Given the description of an element on the screen output the (x, y) to click on. 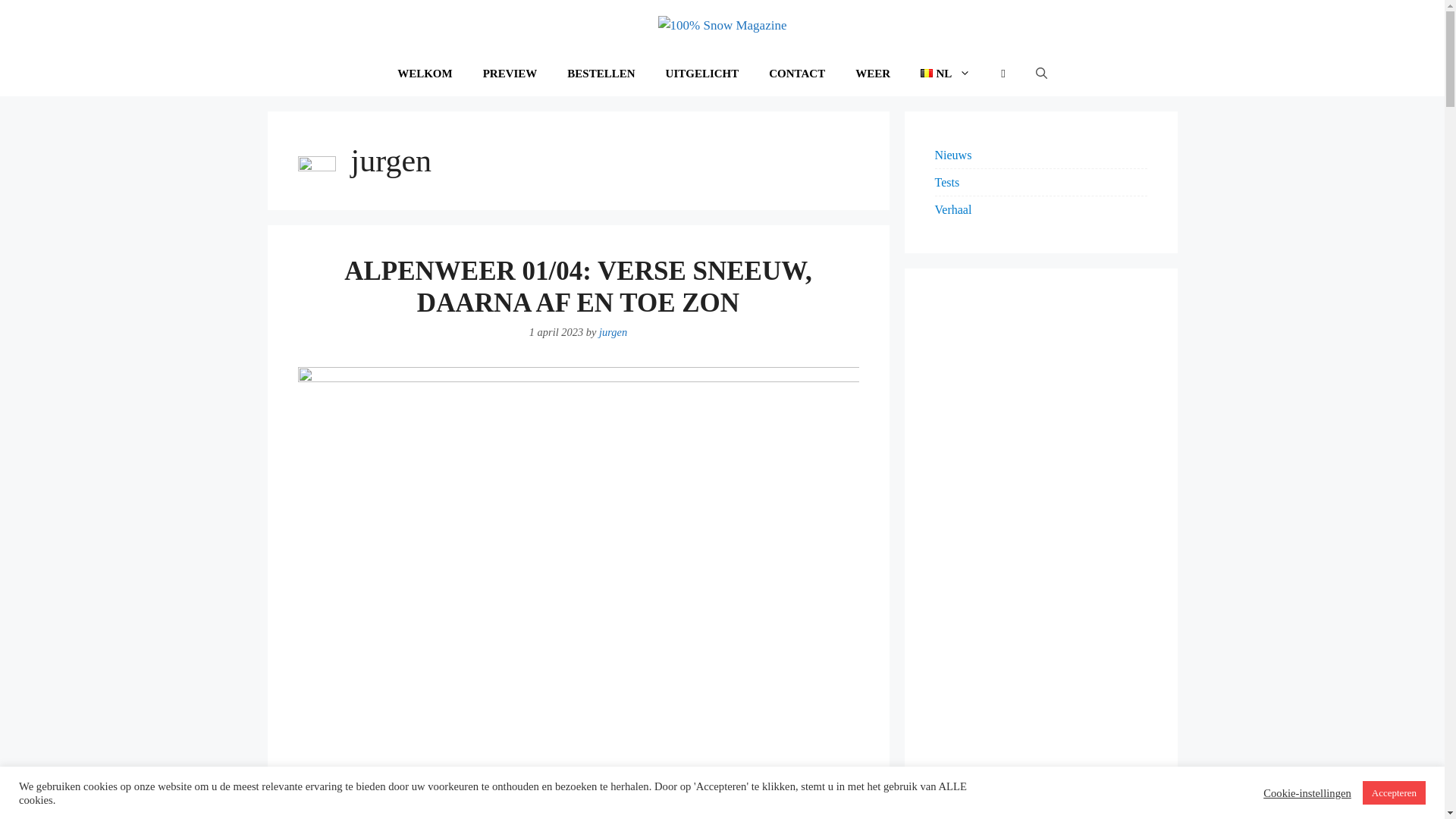
NL Element type: text (945, 73)
100% Snow Magazine Element type: hover (722, 25)
UITGELICHT Element type: text (702, 73)
Nieuws Element type: text (952, 154)
ALPENWEER 01/04: VERSE SNEEUW, DAARNA AF EN TOE ZON Element type: text (578, 286)
jurgen Element type: text (613, 332)
PREVIEW Element type: text (509, 73)
CONTACT Element type: text (796, 73)
WELKOM Element type: text (424, 73)
WEER Element type: text (872, 73)
Cookie-instellingen Element type: text (1307, 792)
BESTELLEN Element type: text (600, 73)
Accepteren Element type: text (1393, 792)
100% Snow Magazine Element type: hover (722, 24)
Tests Element type: text (946, 182)
Verhaal Element type: text (952, 209)
